Given the description of an element on the screen output the (x, y) to click on. 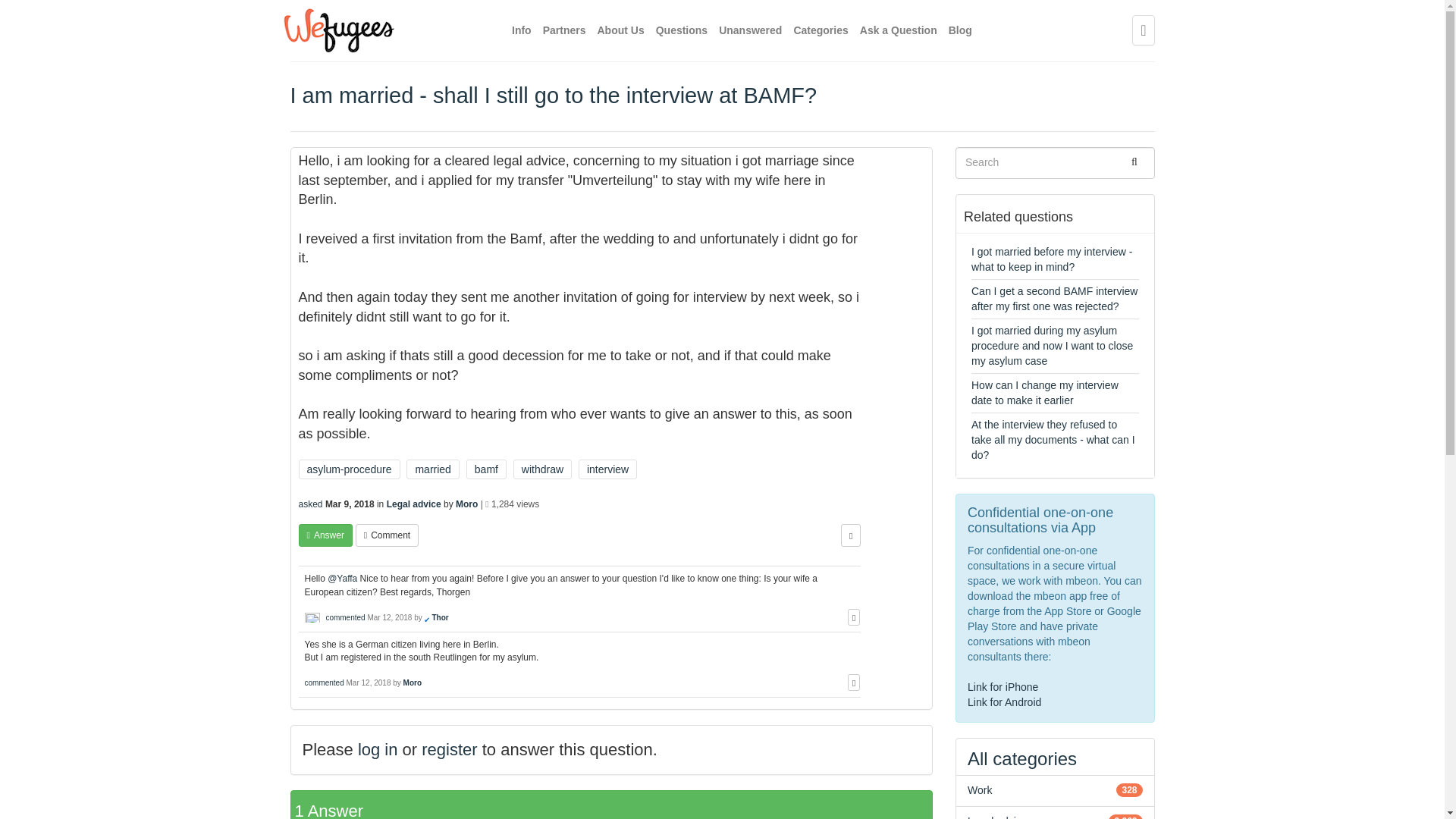
asked (310, 503)
Questions (681, 30)
Unanswered (750, 30)
interview (607, 469)
commented (344, 617)
withdraw (542, 469)
Comment (387, 535)
Answer (325, 535)
Ask a Question (898, 30)
bamf (485, 469)
